Given the description of an element on the screen output the (x, y) to click on. 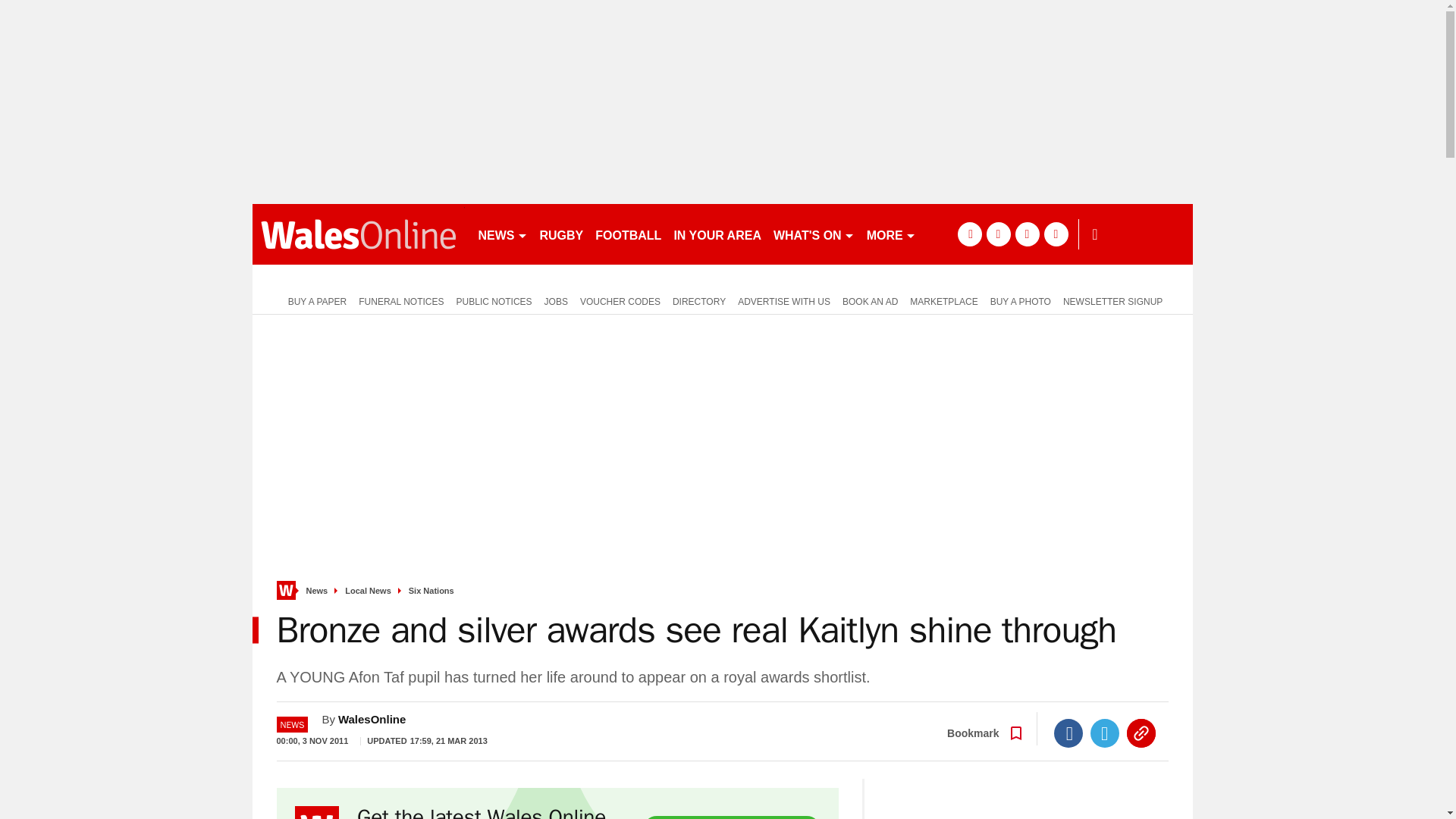
pinterest (1026, 233)
Facebook (1068, 733)
RUGBY (561, 233)
instagram (1055, 233)
walesonline (357, 233)
MORE (890, 233)
WHAT'S ON (813, 233)
twitter (997, 233)
Twitter (1104, 733)
FOOTBALL (627, 233)
IN YOUR AREA (716, 233)
NEWS (501, 233)
facebook (968, 233)
